Given the description of an element on the screen output the (x, y) to click on. 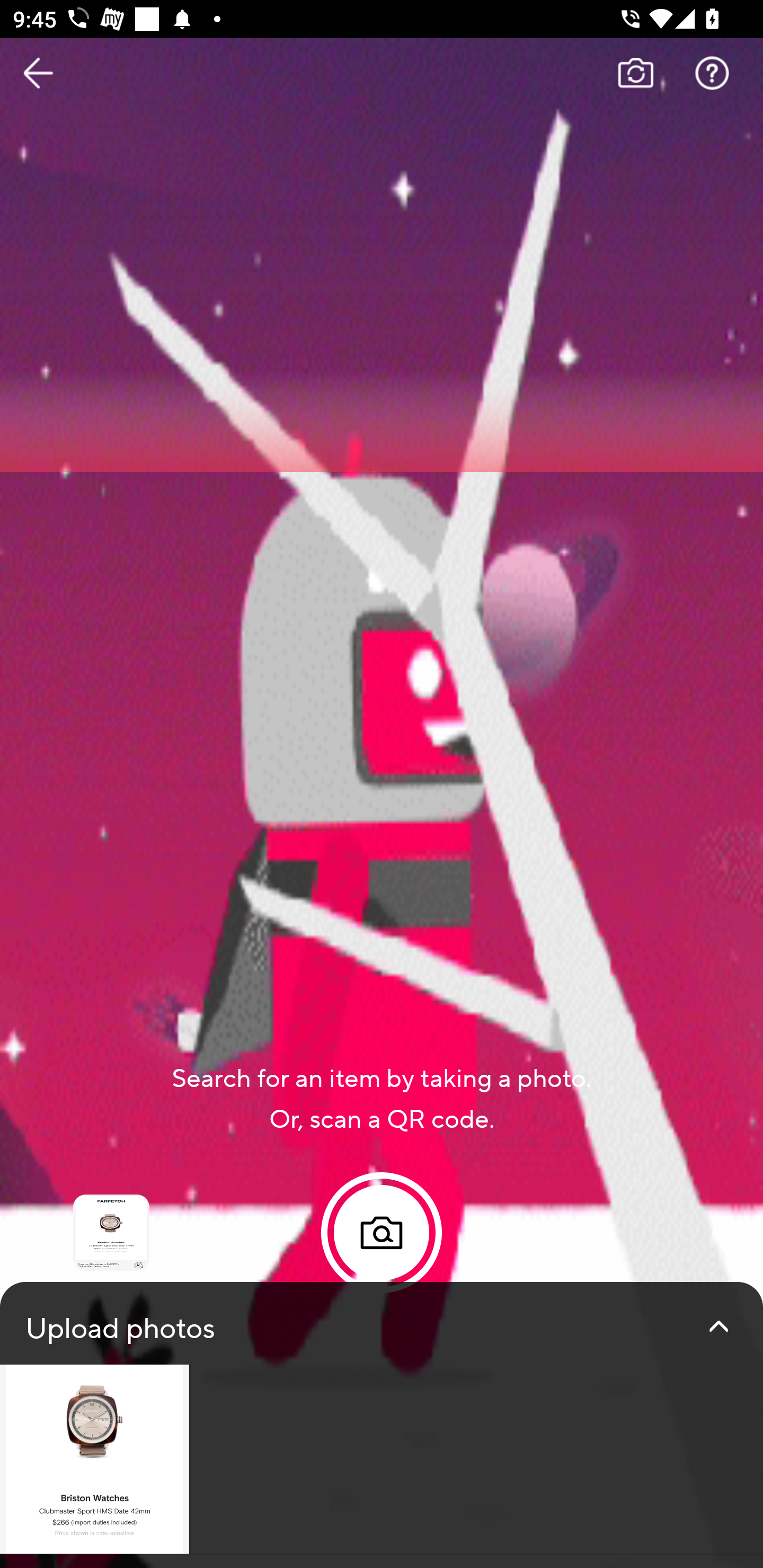
Upload photos  (381, 1425)
 (718, 1326)
